Given the description of an element on the screen output the (x, y) to click on. 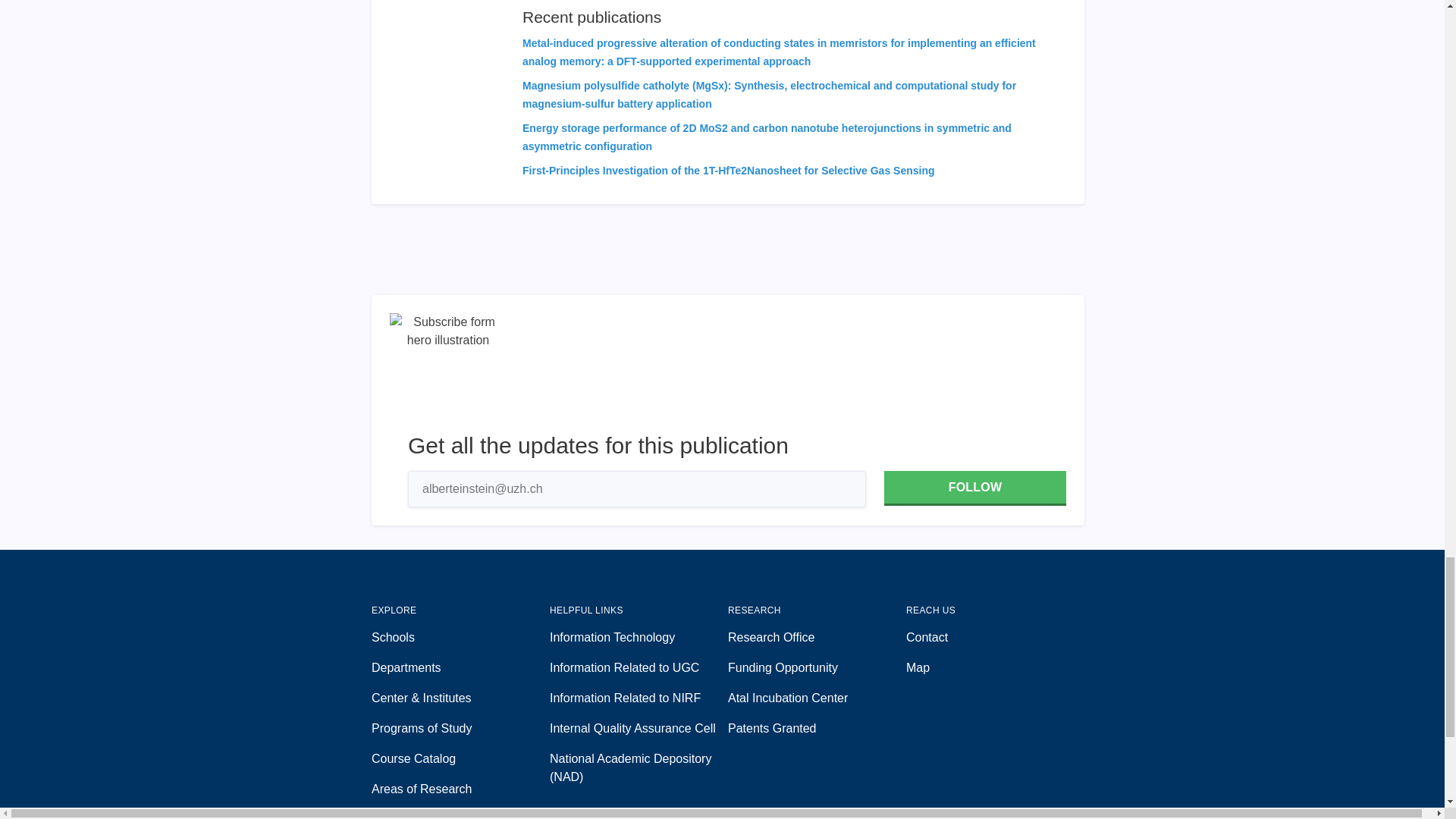
Programs of Study (460, 728)
Course Catalog (460, 759)
Departments (460, 668)
Information Related to UGC (639, 668)
Information Related to NIRF (639, 698)
Areas of Research (460, 789)
Internal Quality Assurance Cell (639, 728)
FOLLOW (974, 488)
